Given the description of an element on the screen output the (x, y) to click on. 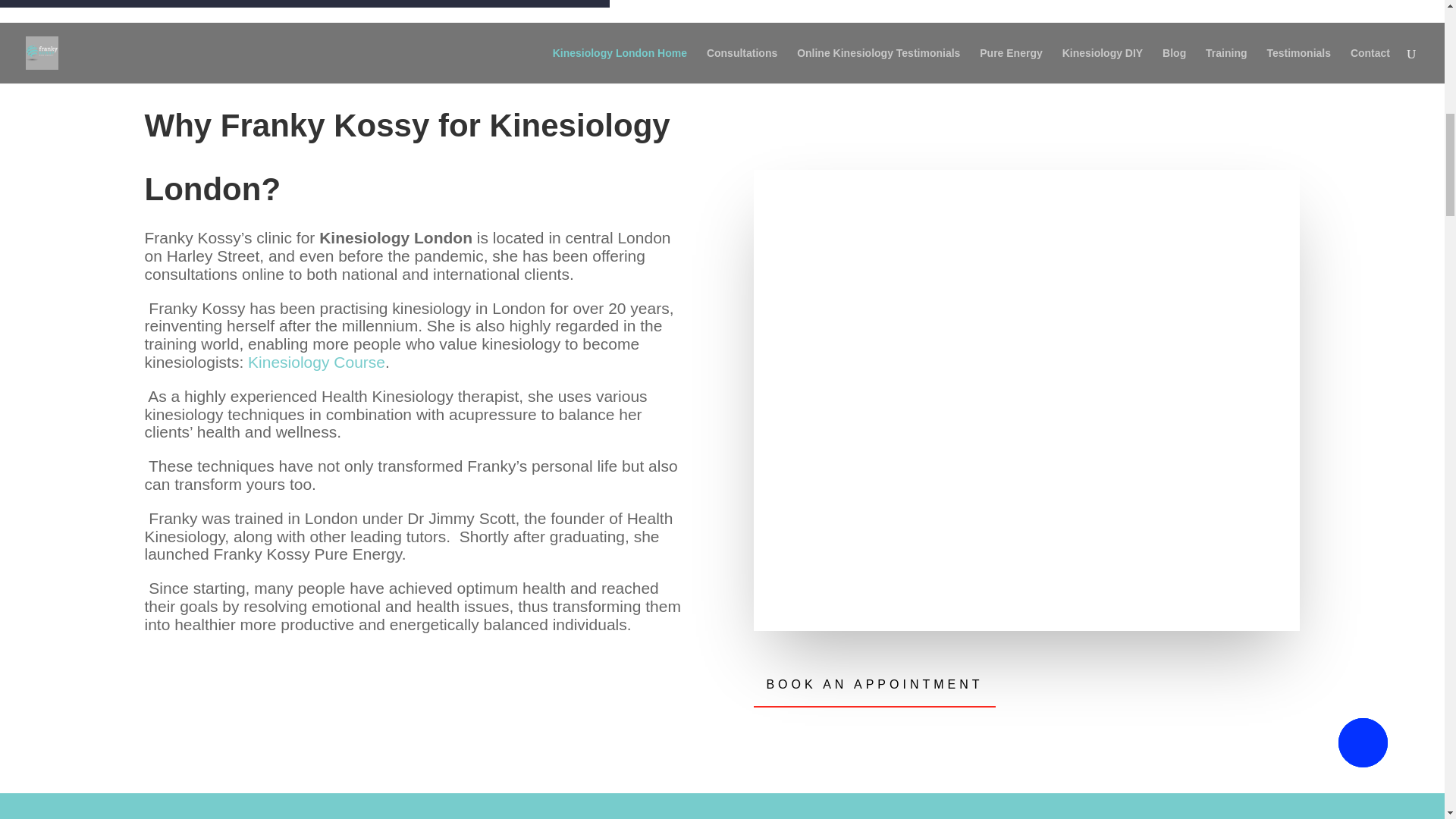
Kinesiology Course (316, 361)
BOOK AN APPOINTMENT (874, 683)
